Given the description of an element on the screen output the (x, y) to click on. 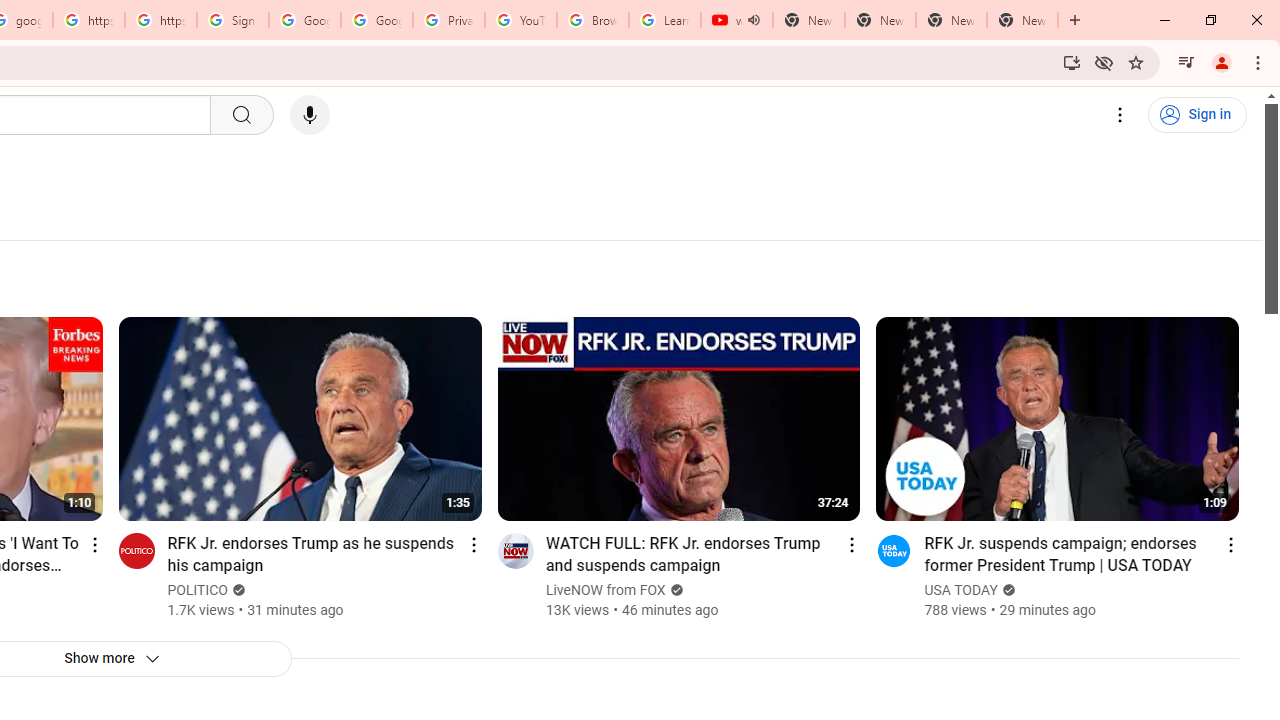
Action menu (1229, 544)
https://scholar.google.com/ (161, 20)
New Tab (1022, 20)
Third-party cookies blocked (1103, 62)
Control your music, videos, and more (1185, 62)
POLITICO (198, 590)
Go to channel (893, 550)
